Given the description of an element on the screen output the (x, y) to click on. 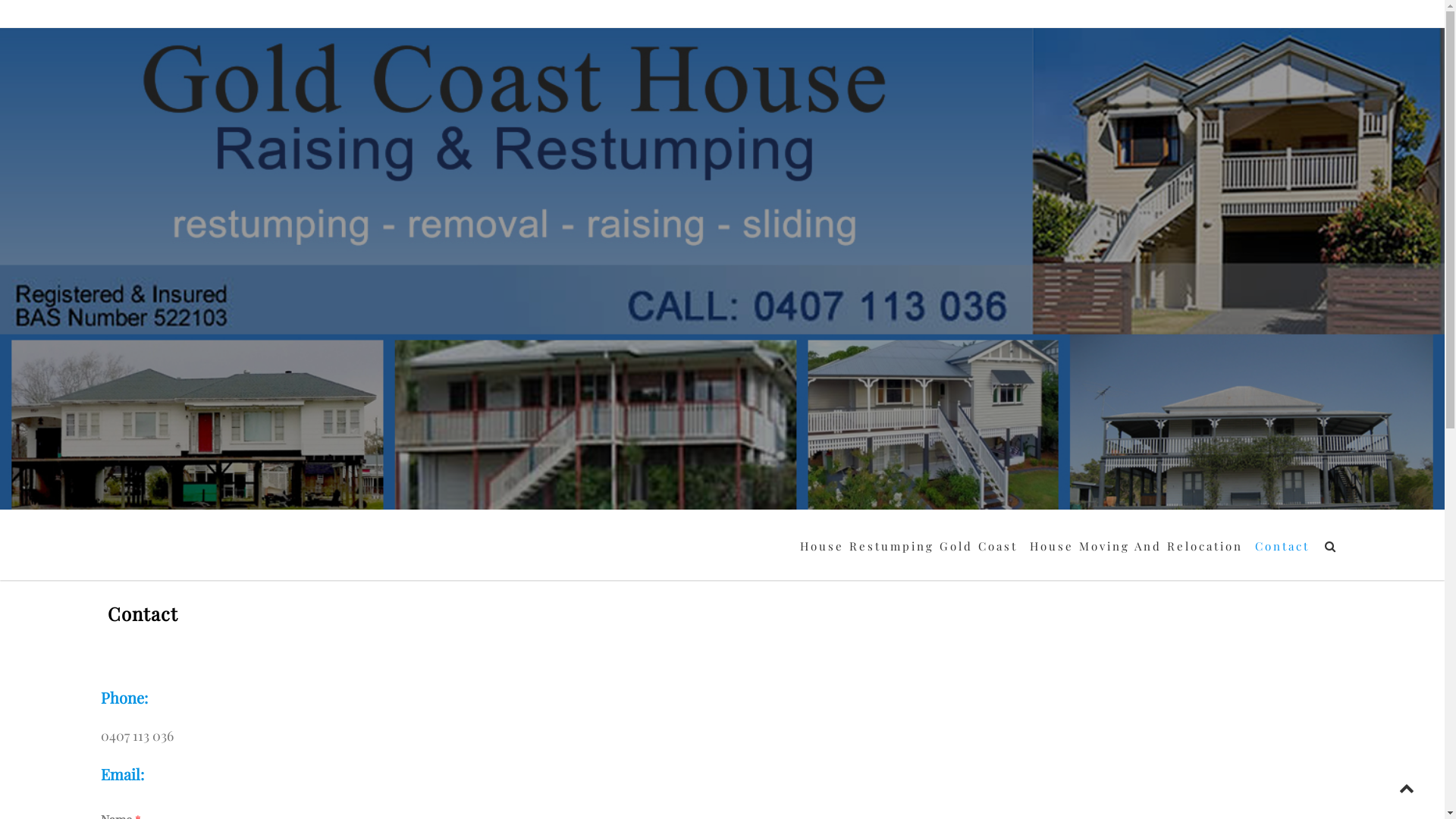
Contact Element type: text (1282, 545)
House Moving And Relocation Element type: text (1136, 545)
House Restumping Gold Coast Element type: text (908, 545)
Go to Top Element type: hover (1406, 788)
